Given the description of an element on the screen output the (x, y) to click on. 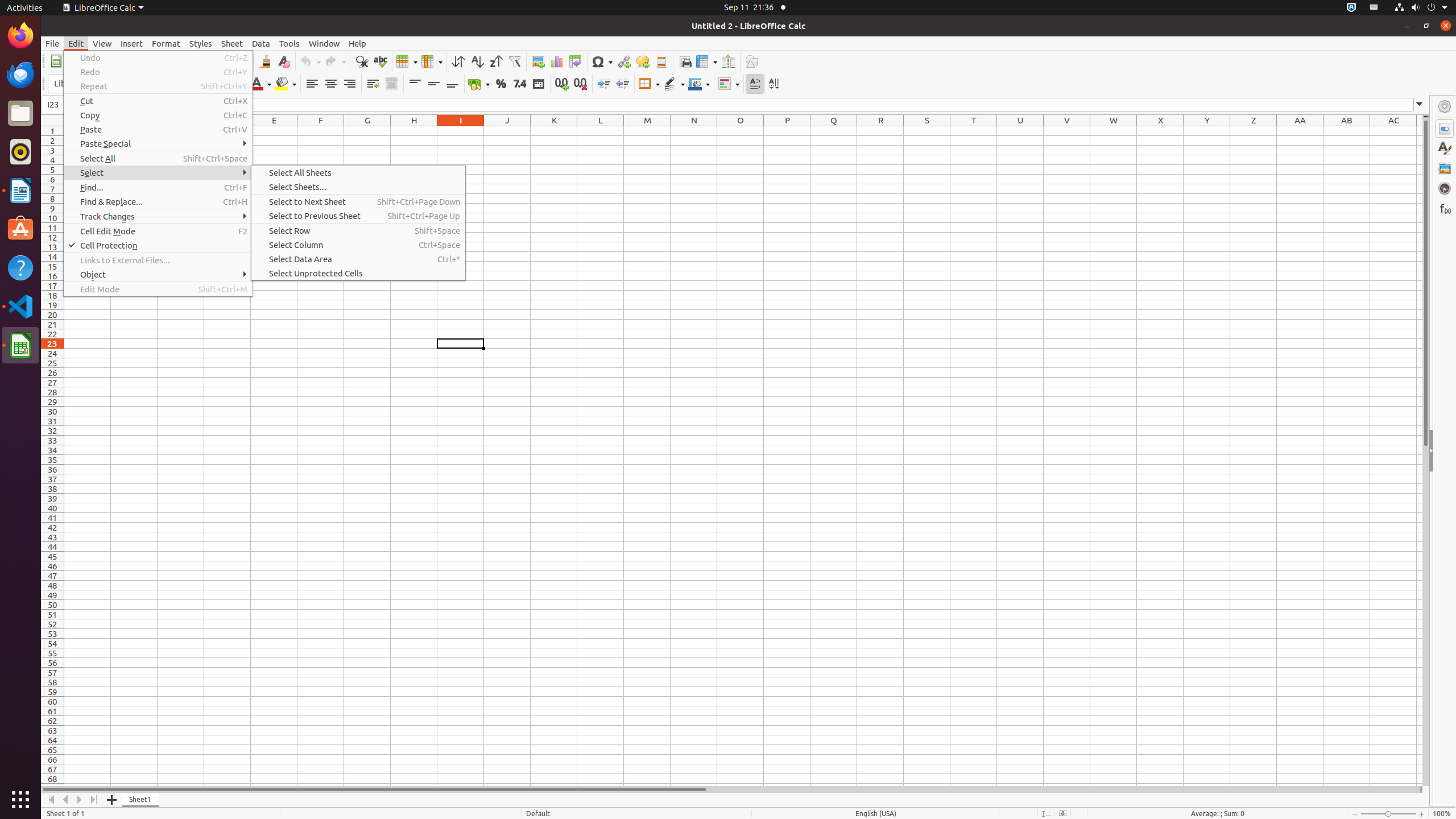
Center Vertically Element type: push-button (433, 83)
Find... Element type: menu-item (157, 187)
Increase Element type: push-button (603, 83)
K1 Element type: table-cell (553, 130)
Expand Formula Bar Element type: push-button (1419, 104)
